Given the description of an element on the screen output the (x, y) to click on. 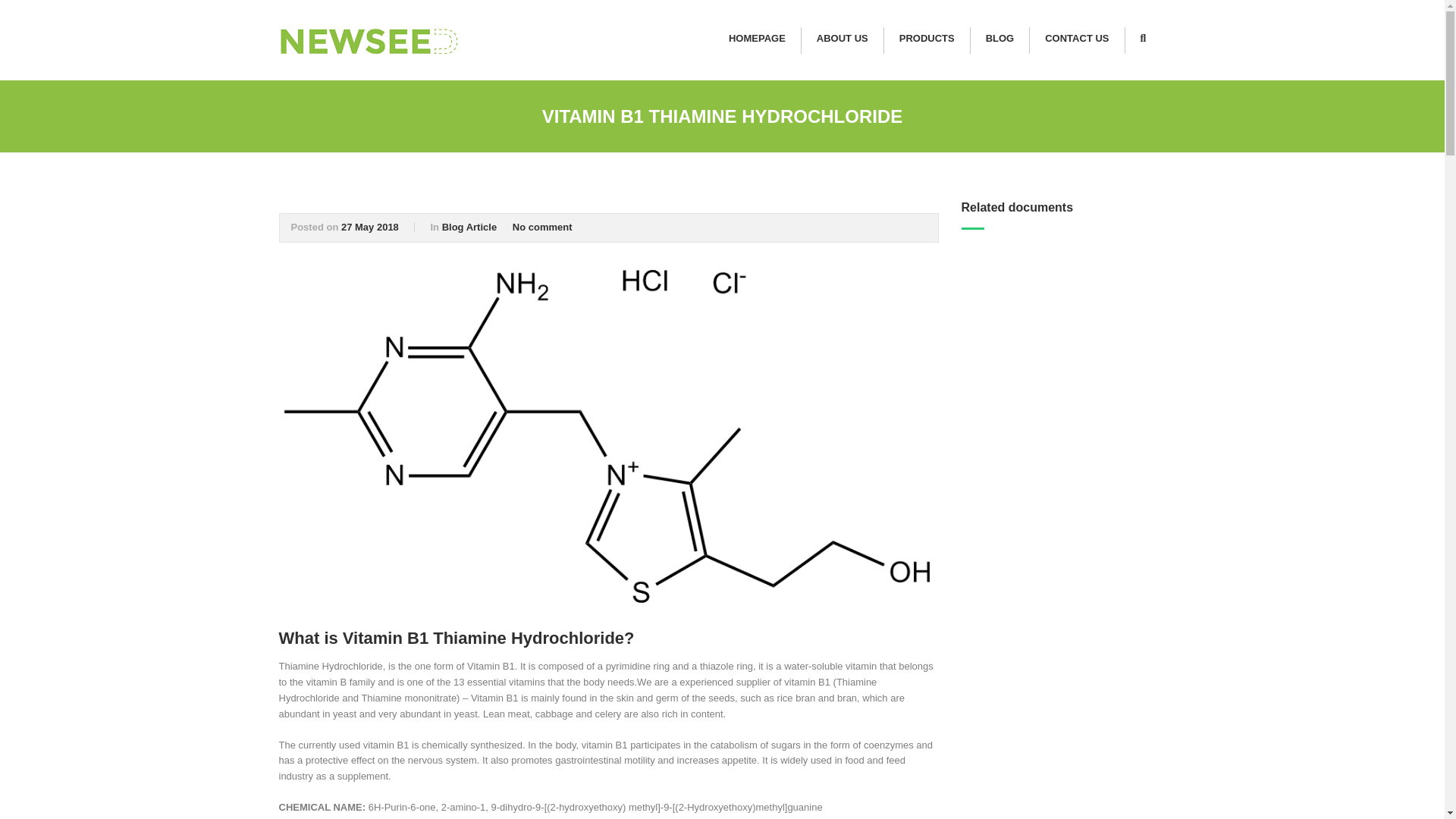
ABOUT US (841, 40)
BLOG (999, 40)
PRODUCTS (927, 40)
Blog Article (469, 226)
CONTACT US (1076, 40)
No comment (542, 226)
HOMEPAGE (757, 40)
No comment (542, 226)
